Given the description of an element on the screen output the (x, y) to click on. 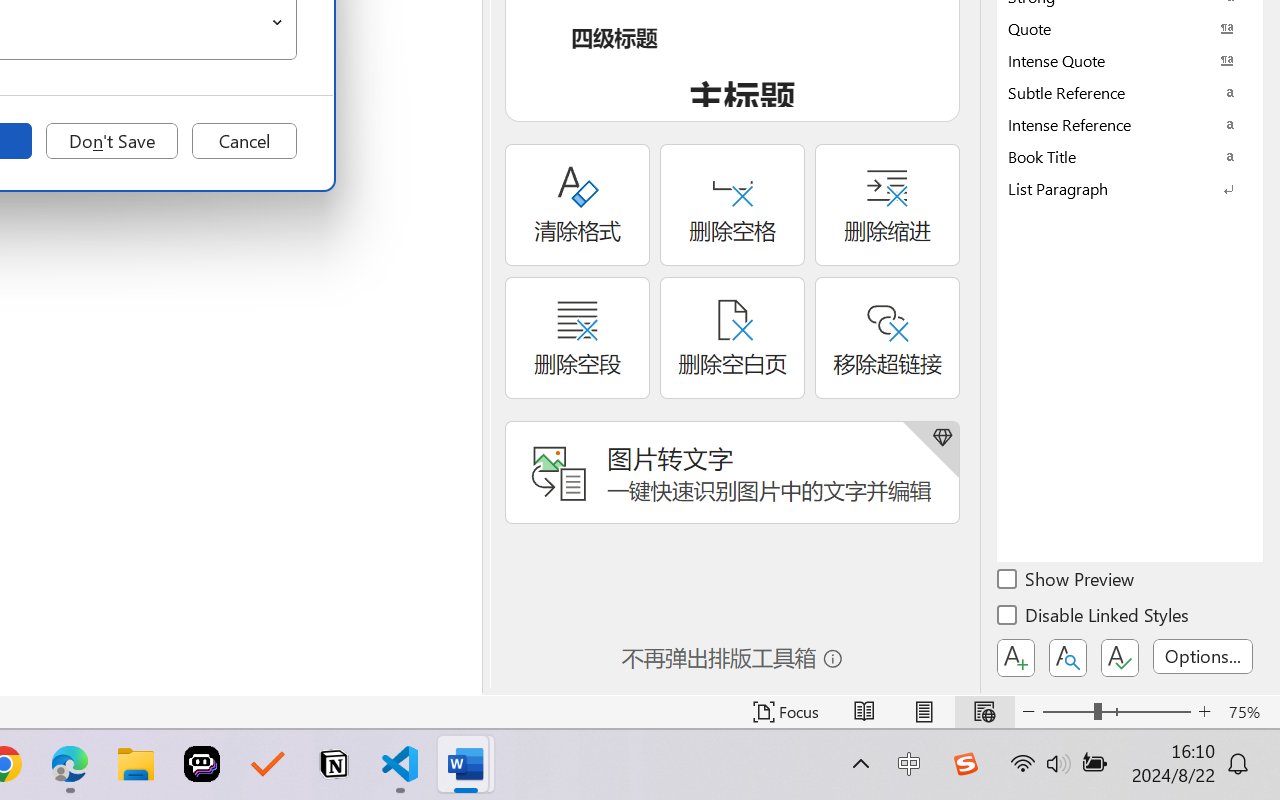
Notion (333, 764)
Read Mode (864, 712)
Zoom In (1204, 712)
List Paragraph (1130, 188)
Disable Linked Styles (1094, 618)
